Given the description of an element on the screen output the (x, y) to click on. 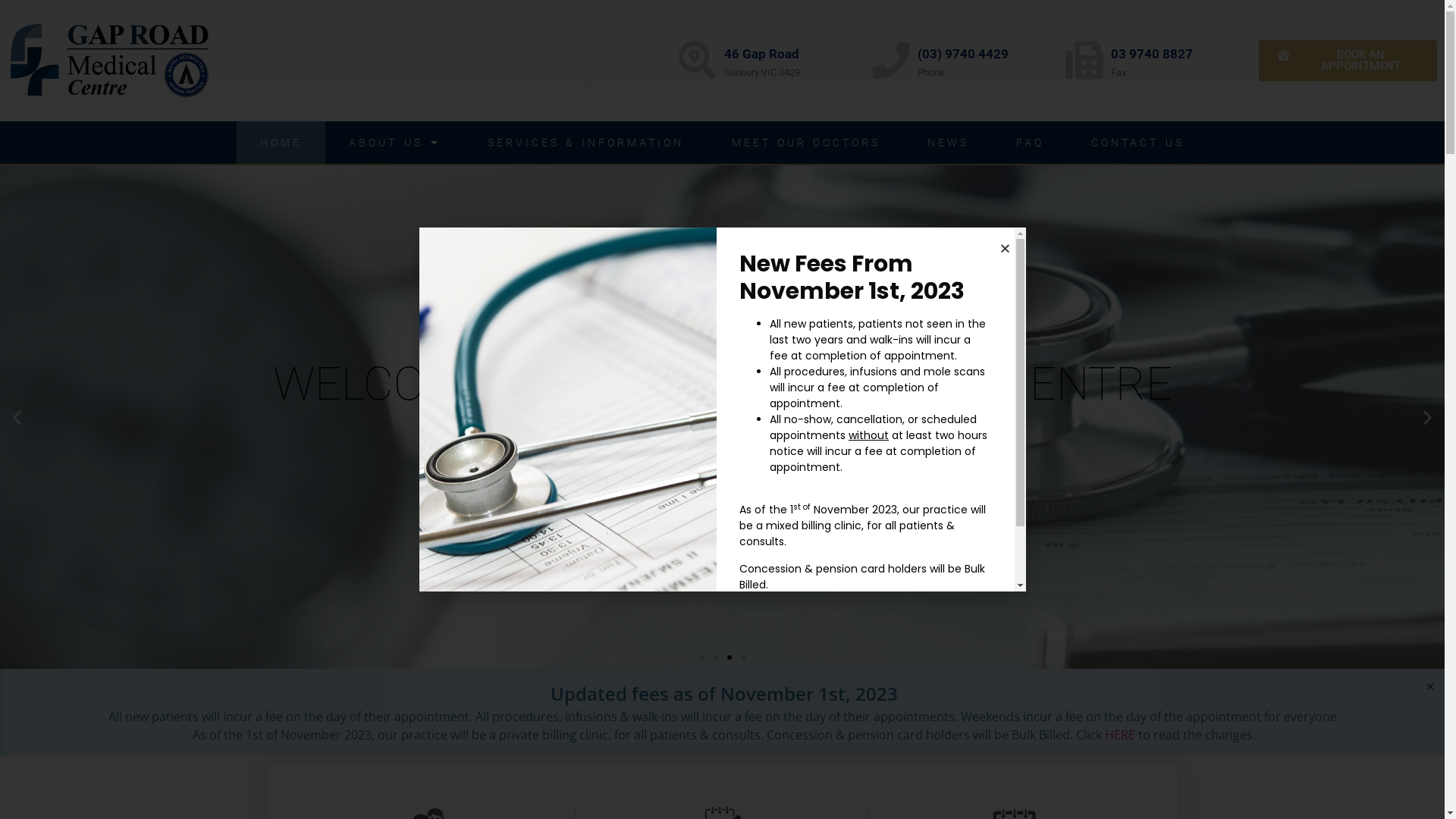
BOOK AN APPOINTMENT Element type: text (722, 463)
SERVICES & INFORMATION Element type: text (586, 142)
NEWS Element type: text (947, 142)
ABOUT US Element type: text (394, 142)
Learn more Element type: text (788, 622)
BOOK AN APPOINTMENT Element type: text (1347, 60)
MEET OUR DOCTORS Element type: text (806, 142)
HOME Element type: text (280, 142)
FAQ Element type: text (1029, 142)
HERE Element type: text (1119, 734)
CONTACT US Element type: text (1137, 142)
